Given the description of an element on the screen output the (x, y) to click on. 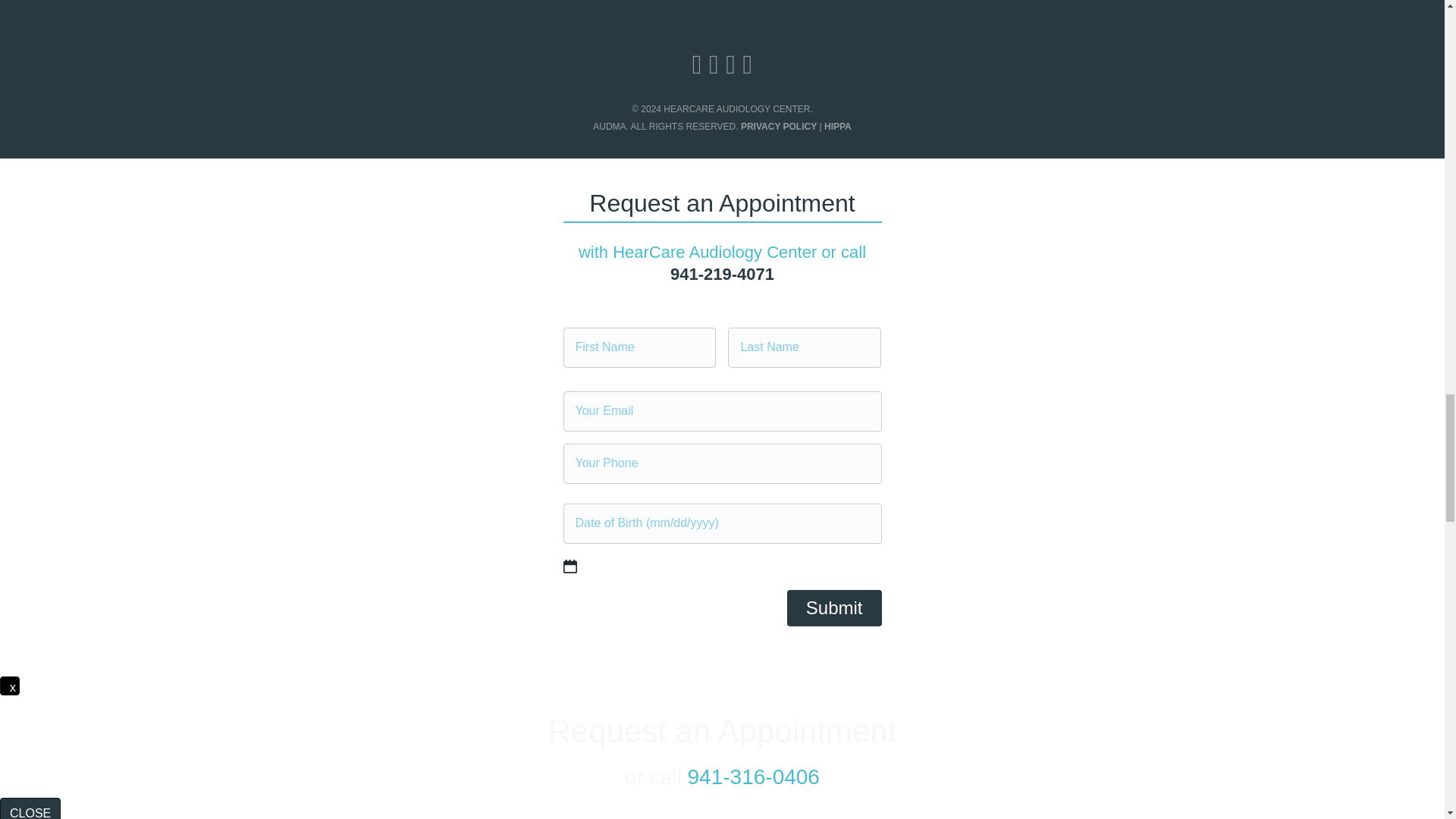
Select date (569, 566)
Submit (834, 607)
